Given the description of an element on the screen output the (x, y) to click on. 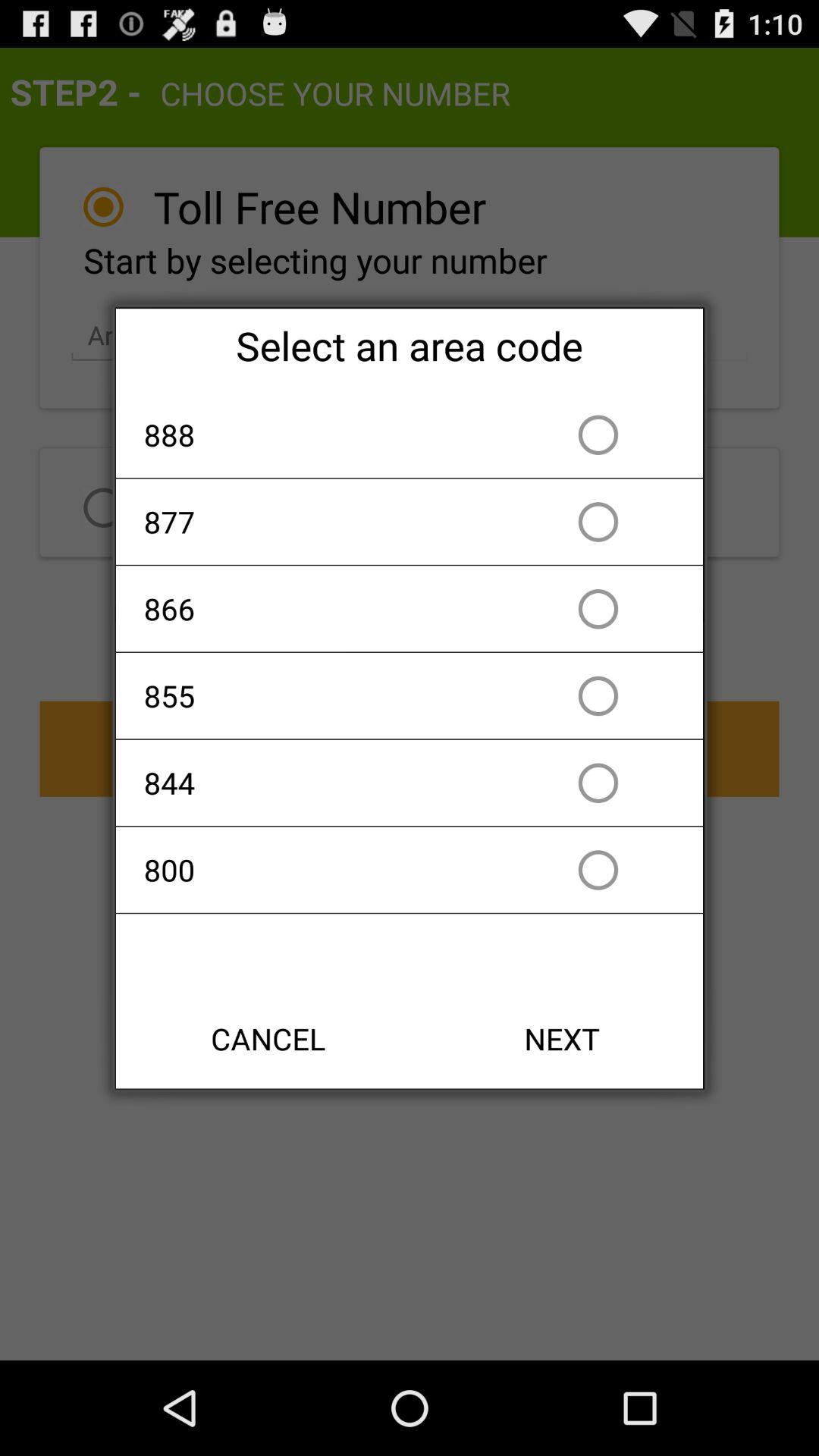
scroll to the 844 item (322, 782)
